Given the description of an element on the screen output the (x, y) to click on. 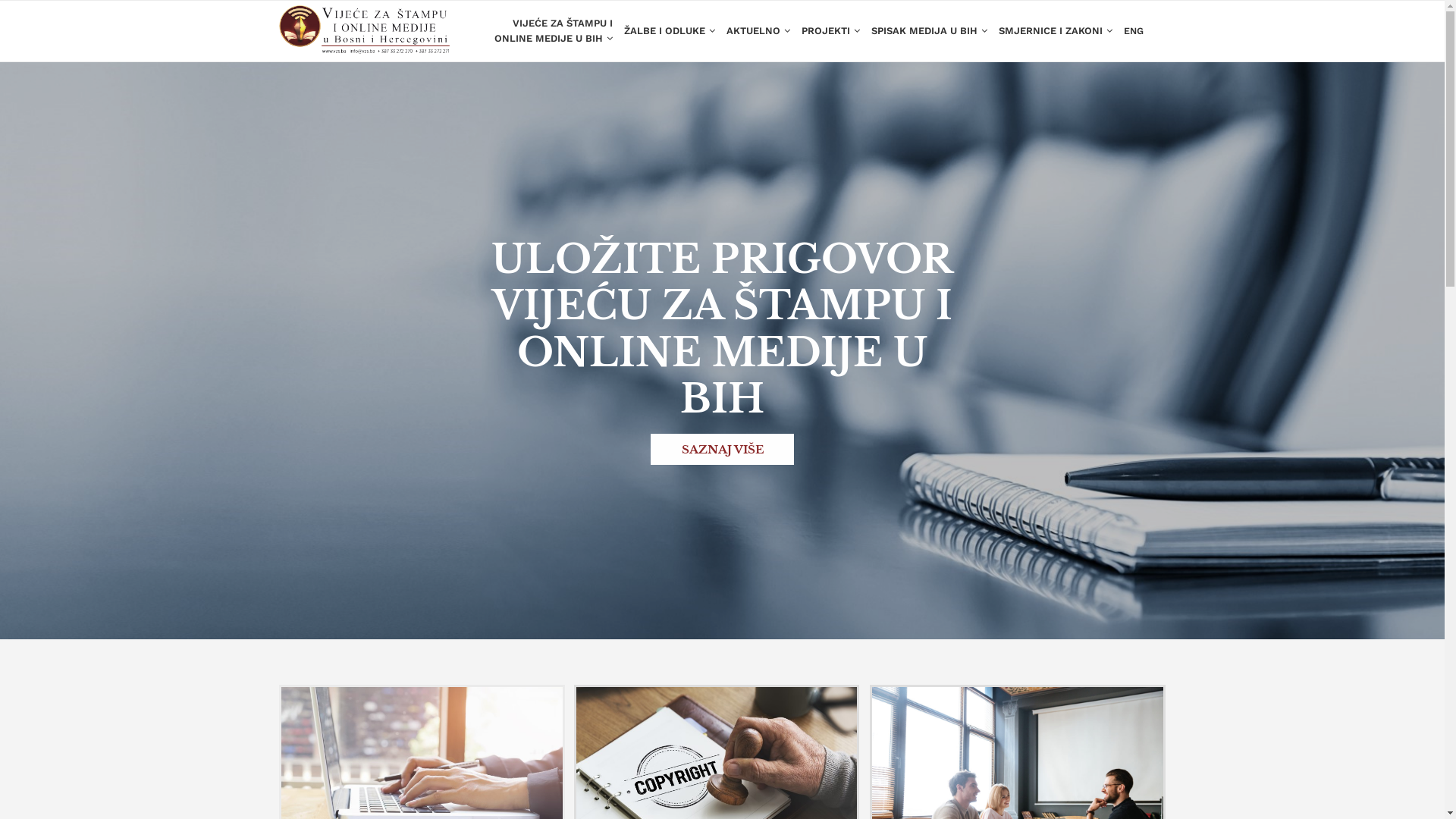
SMJERNICE I ZAKONI Element type: text (1054, 30)
ENG Element type: text (1133, 30)
AKTUELNO Element type: text (758, 30)
SPISAK MEDIJA U BIH Element type: text (928, 30)
PROJEKTI Element type: text (829, 30)
